Given the description of an element on the screen output the (x, y) to click on. 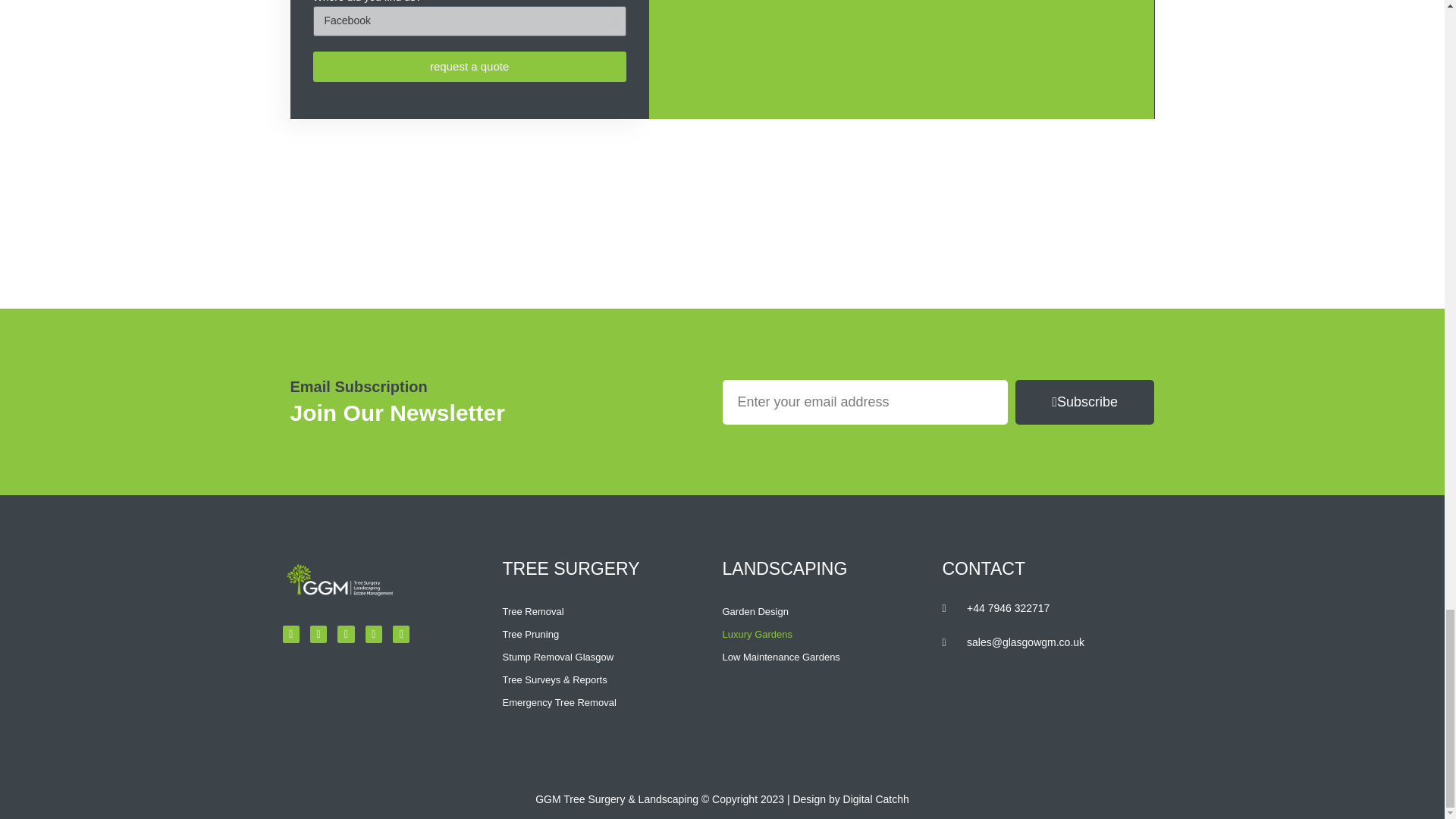
Emergency Tree Removal (612, 702)
Stump Removal Glasgow (612, 657)
Tree Pruning (612, 634)
Subscribe (1084, 402)
request a quote (469, 66)
Tree Removal (612, 611)
